Given the description of an element on the screen output the (x, y) to click on. 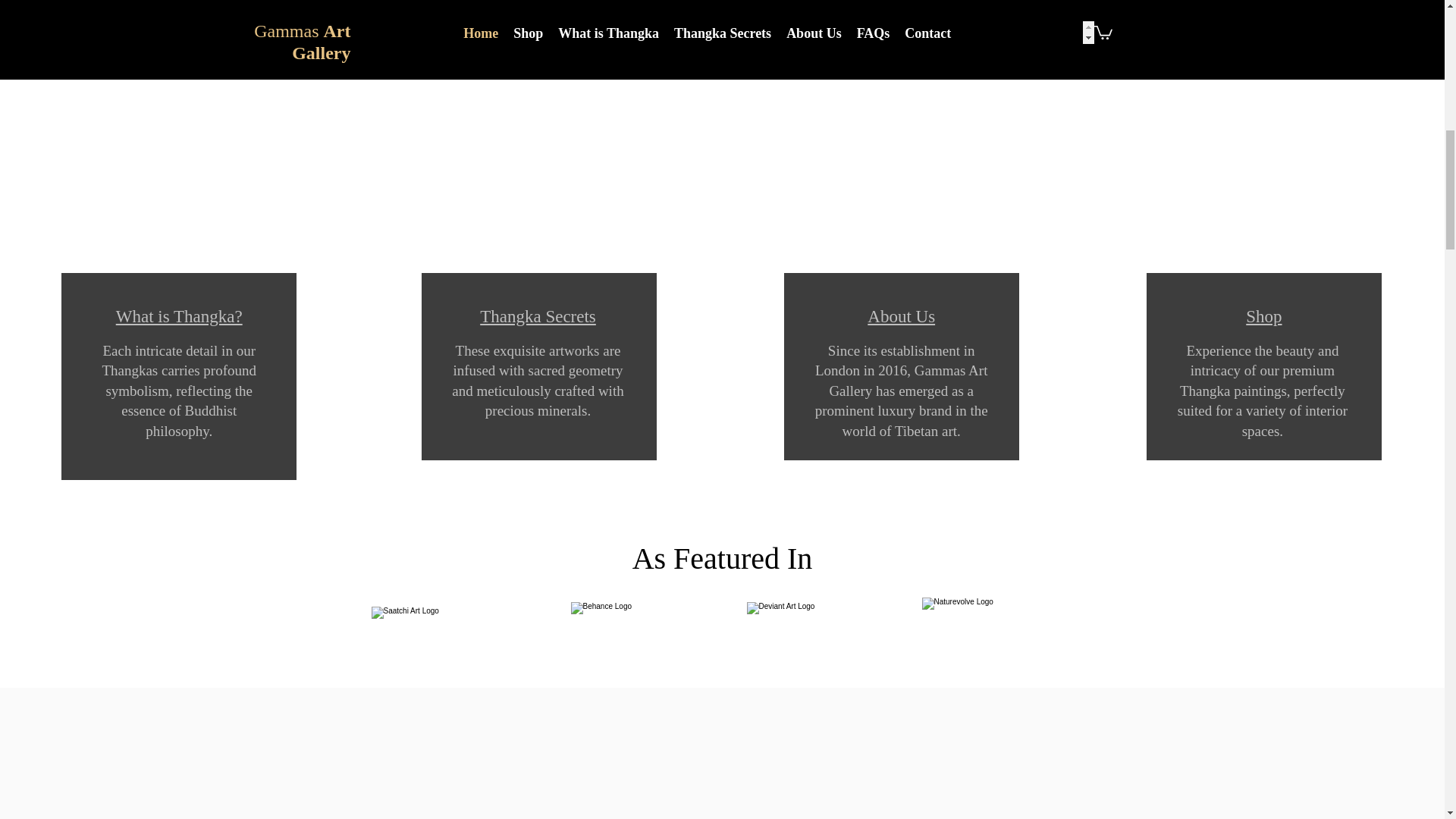
What is Thangka? (179, 316)
Deviant Art Logo (805, 617)
Thangka Secrets (537, 316)
About Us (900, 316)
Shop (1263, 316)
Behance Logo (624, 612)
Saatchi Art Logo (446, 617)
Naturevolve Logo (996, 617)
